Given the description of an element on the screen output the (x, y) to click on. 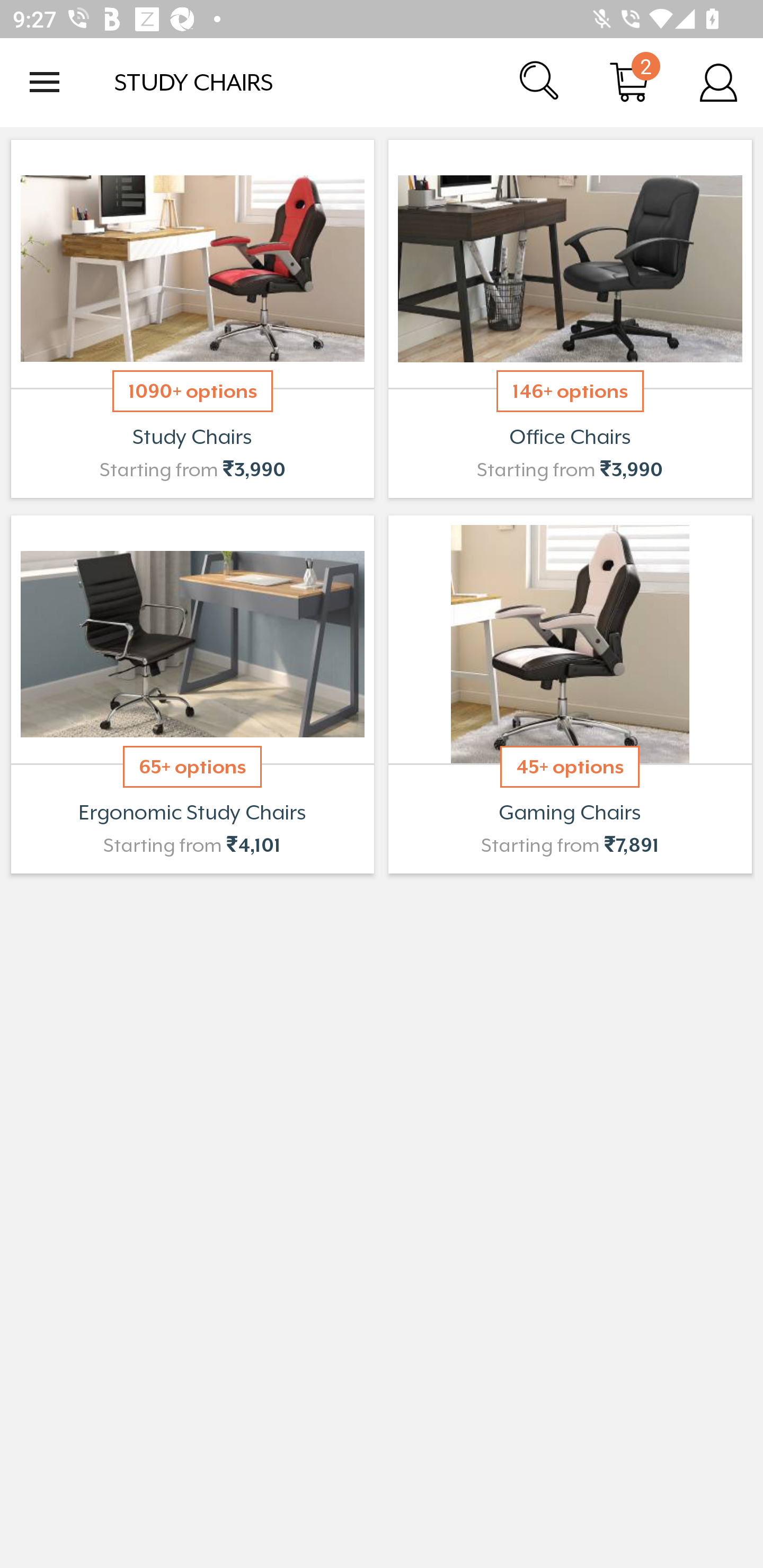
Open navigation drawer (44, 82)
Search (540, 81)
Cart (629, 81)
Account Details (718, 81)
462+ options Study Tables Starting from  ₹602 (191, 318)
1099+ options Study Chairs Starting from  ₹3,990 (570, 318)
453+ options Storage Starting from  ₹483 (191, 694)
29+ options Decor Starting from  ₹464 (570, 694)
